Given the description of an element on the screen output the (x, y) to click on. 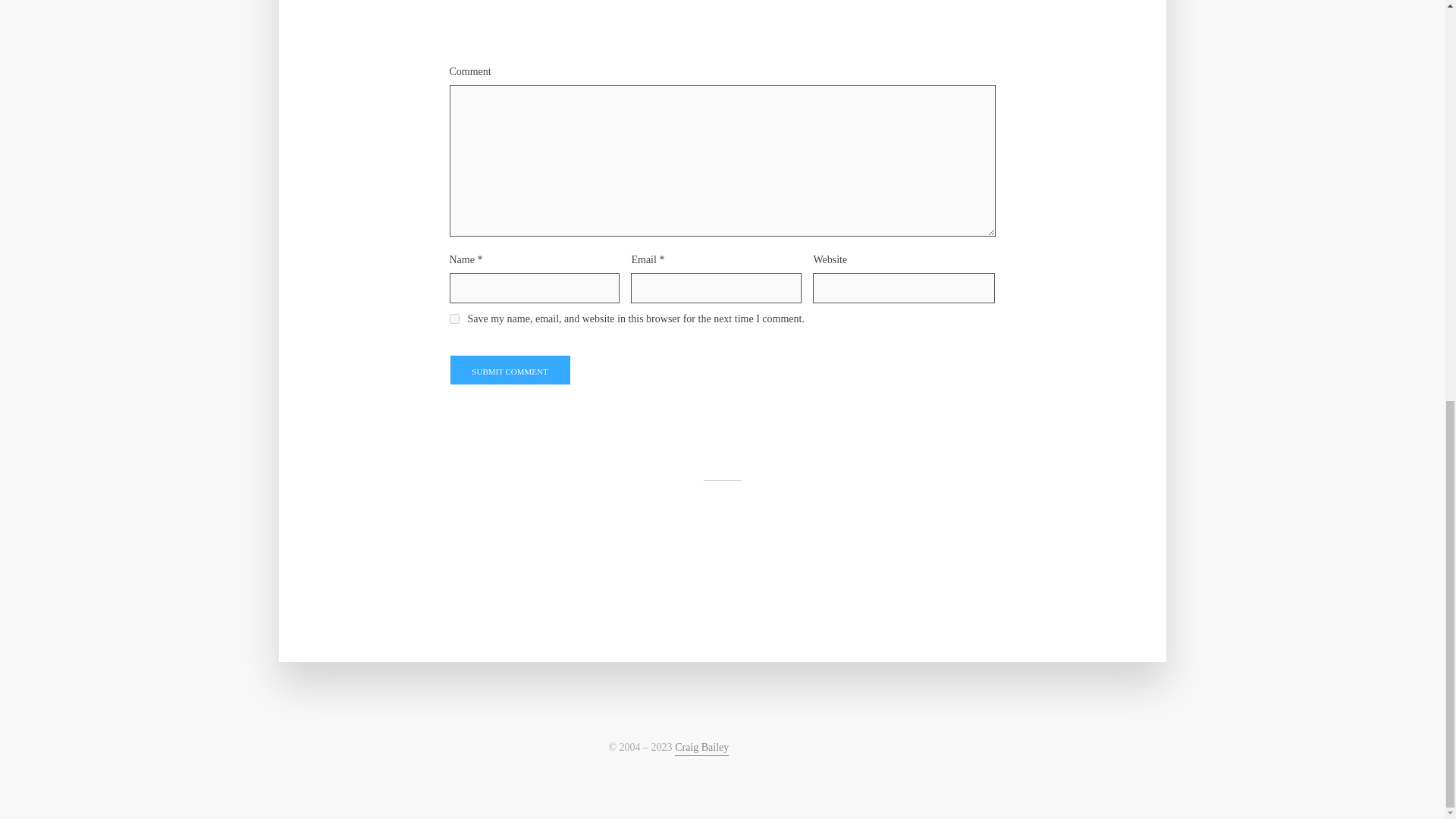
Submit Comment (509, 369)
yes (453, 318)
Submit Comment (509, 369)
Craig Bailey (702, 748)
